Given the description of an element on the screen output the (x, y) to click on. 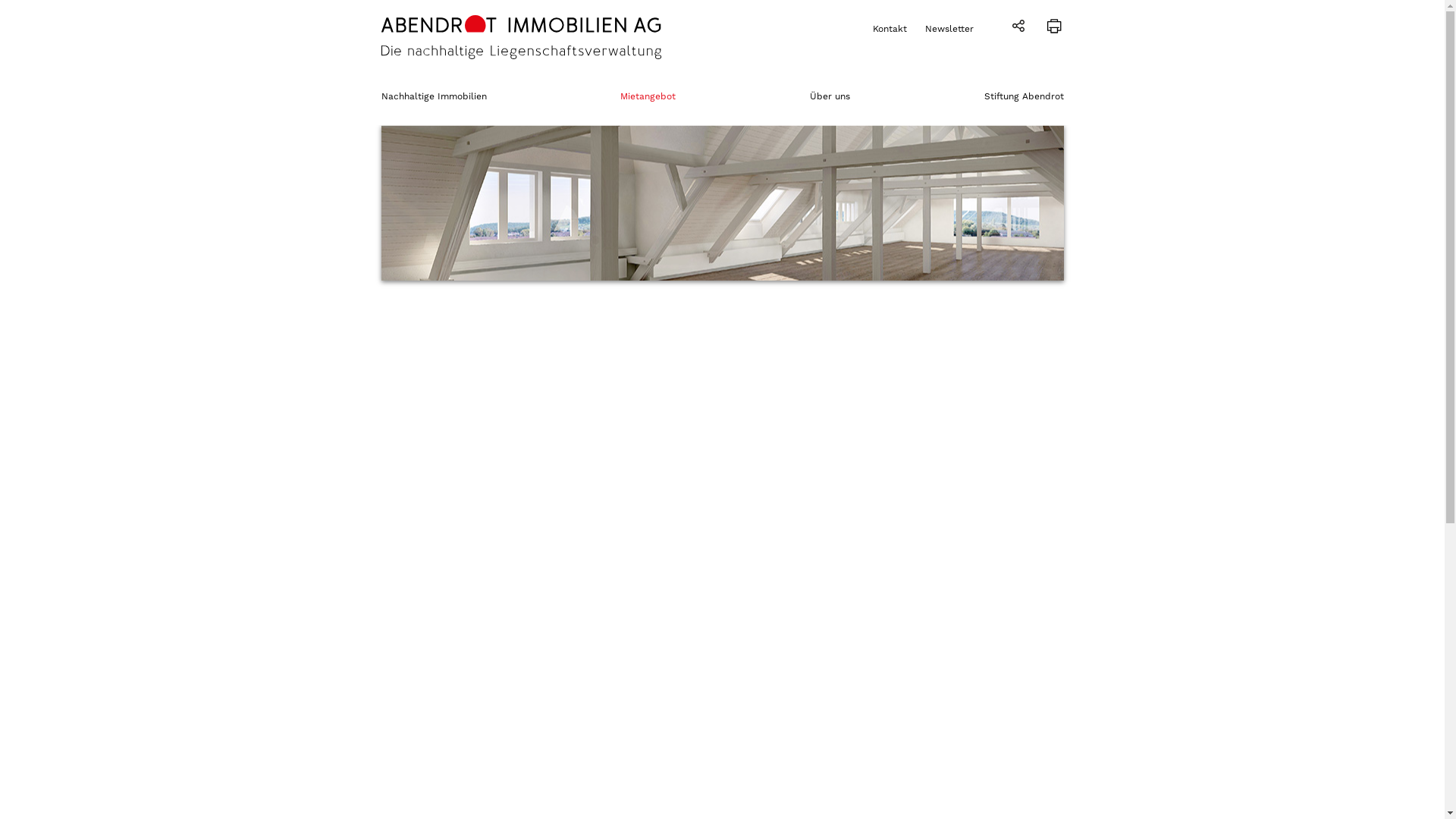
Stiftung Abendrot Element type: text (1023, 96)
Nachhaltige Immobilien Element type: text (433, 96)
Newsletter Element type: text (949, 28)
Kontakt Element type: text (889, 28)
Mietangebot Element type: text (647, 96)
